Given the description of an element on the screen output the (x, y) to click on. 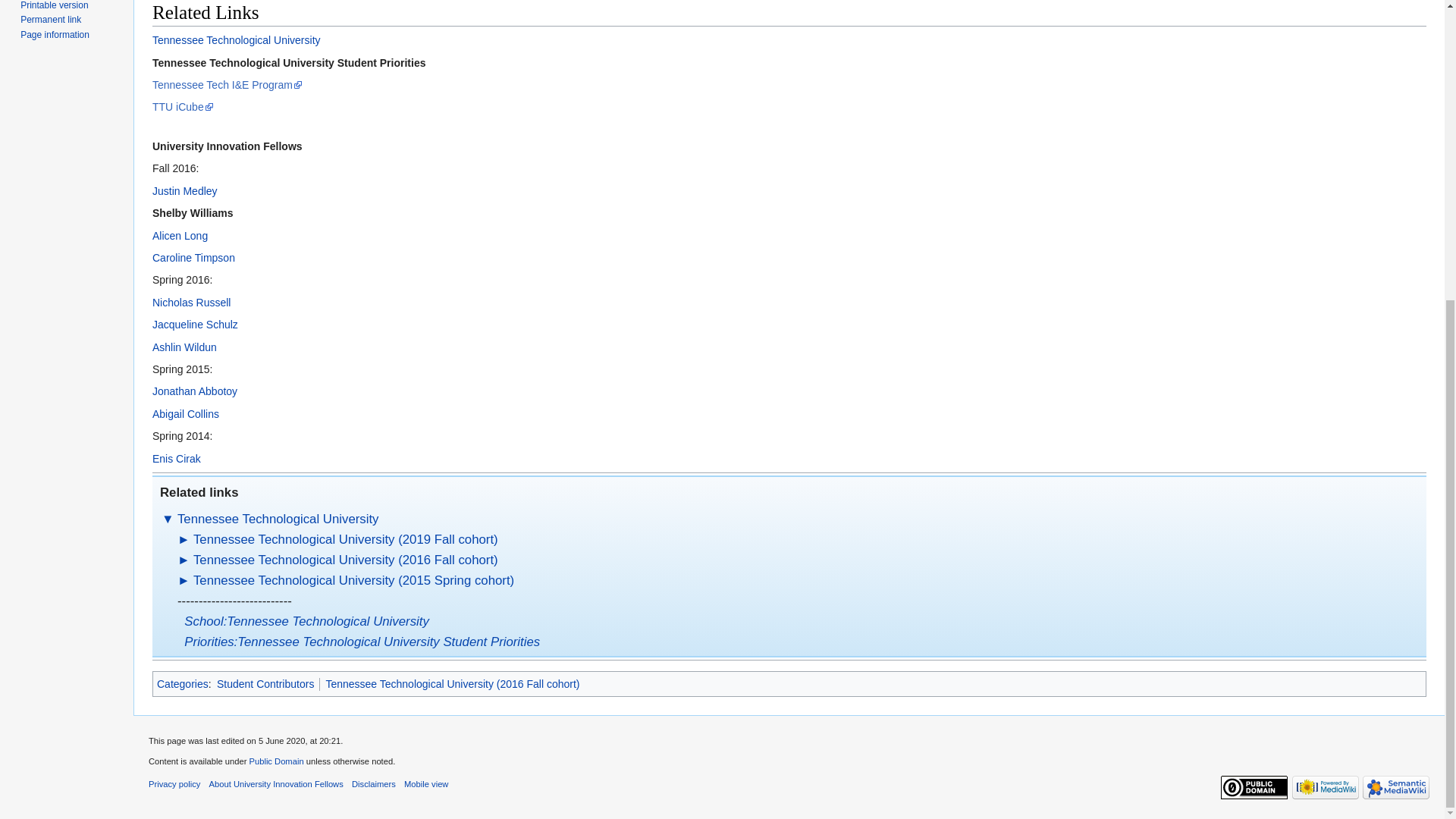
collapse (167, 518)
expand (183, 539)
Caroline timpson (193, 257)
Enis Cirak (176, 458)
Alicen long (180, 235)
Nicholas Russell (191, 302)
Abigail Collins (185, 413)
TTU iCube (183, 106)
Ashlin Wildun (184, 346)
School:Tennessee Technological University (306, 621)
Tennessee Technological University (277, 518)
Nicholas Russell (191, 302)
Alicen Long (180, 235)
Category:Tennessee Technological University (277, 518)
